Given the description of an element on the screen output the (x, y) to click on. 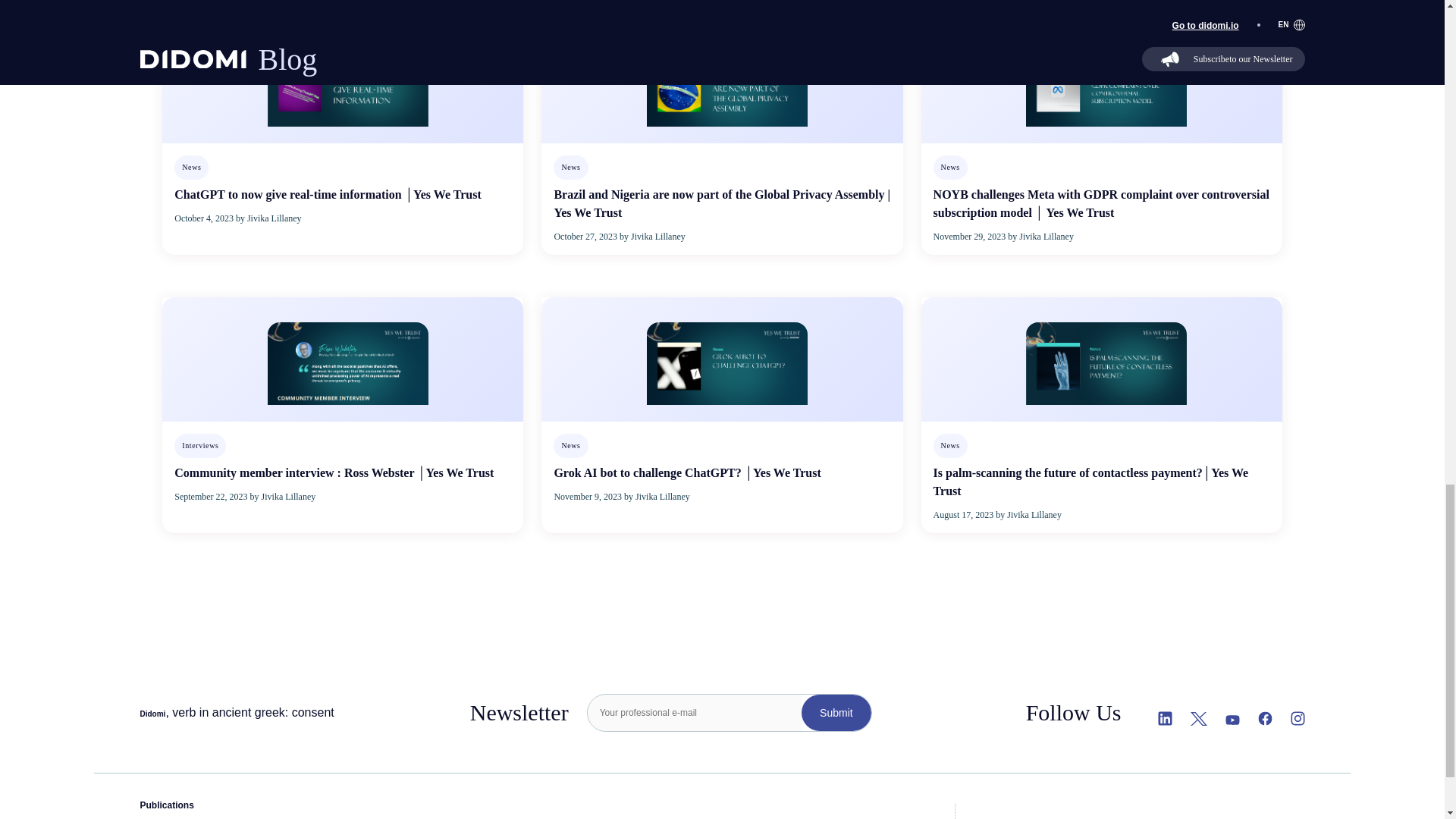
Submit (836, 712)
Submit (836, 712)
